Given the description of an element on the screen output the (x, y) to click on. 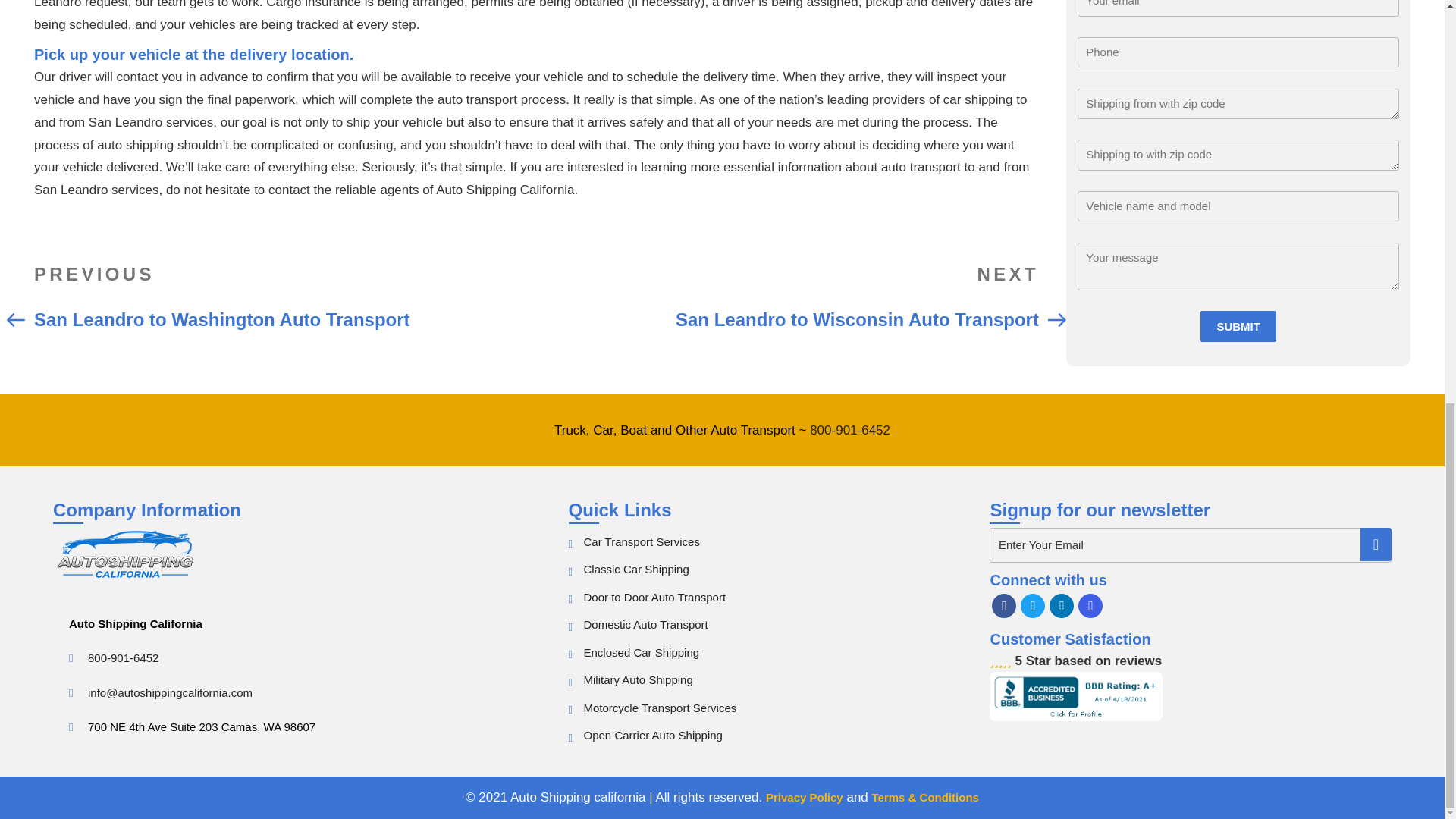
Door to Door Auto Transport (654, 596)
Enclosed Car Shipping (641, 652)
Auto Shipping California BBB Rating and Reviews (1075, 695)
800-901-6452 (122, 657)
Facebook (1003, 605)
Twitter (1032, 605)
Instagram (1090, 605)
Submit (1237, 134)
Classic Car Shipping (635, 568)
Domestic Auto Transport (645, 624)
800-901-6452 (849, 430)
Submit (1237, 134)
LinkedIn (786, 295)
Car Transport Services (1061, 605)
